Given the description of an element on the screen output the (x, y) to click on. 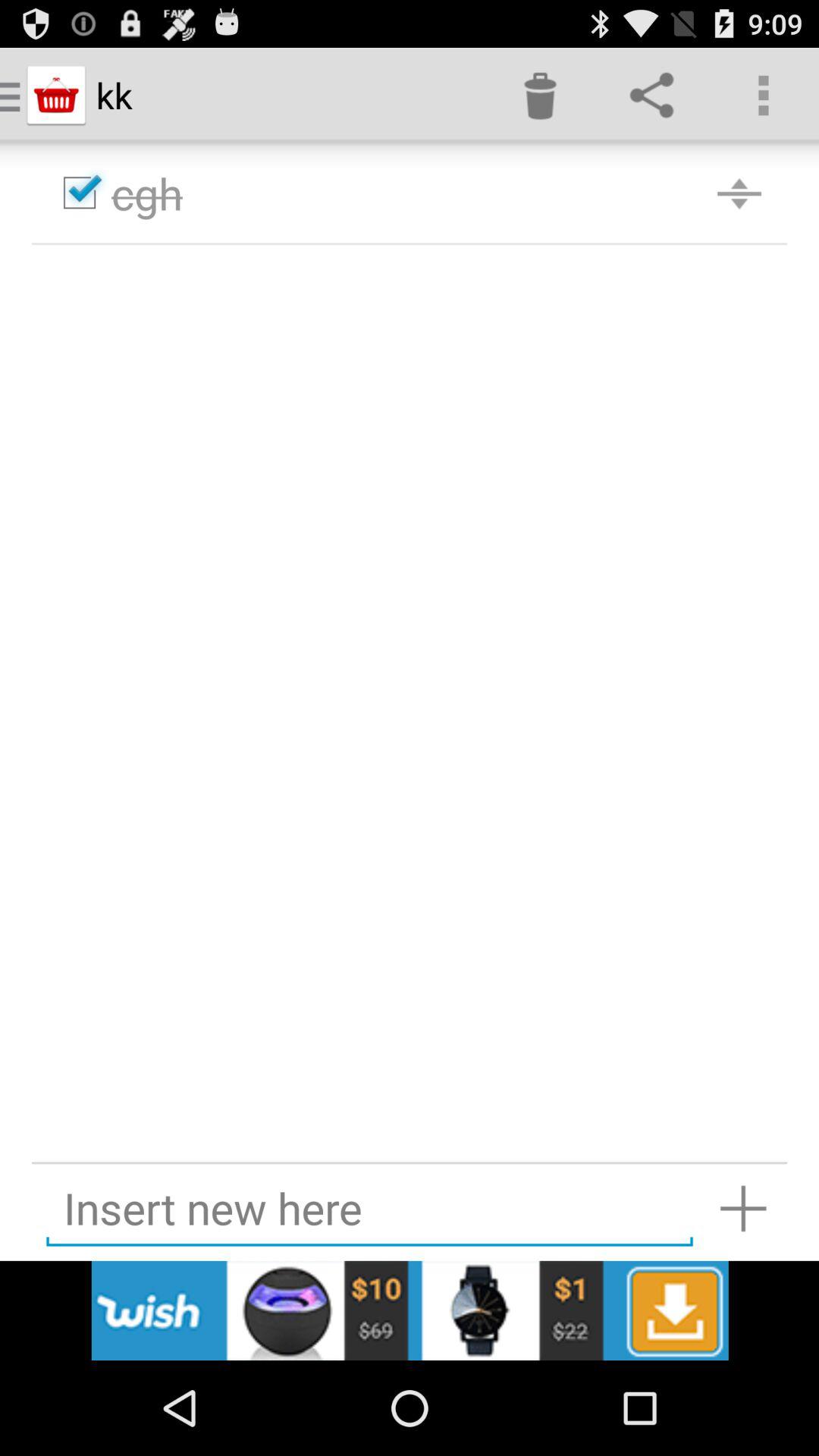
go to  (743, 1207)
go to left of share (540, 95)
select the icon beside the text  cgh (739, 192)
click on the icon which is left of the kk (55, 95)
select the button which is below the wifi symbol (651, 95)
